Given the description of an element on the screen output the (x, y) to click on. 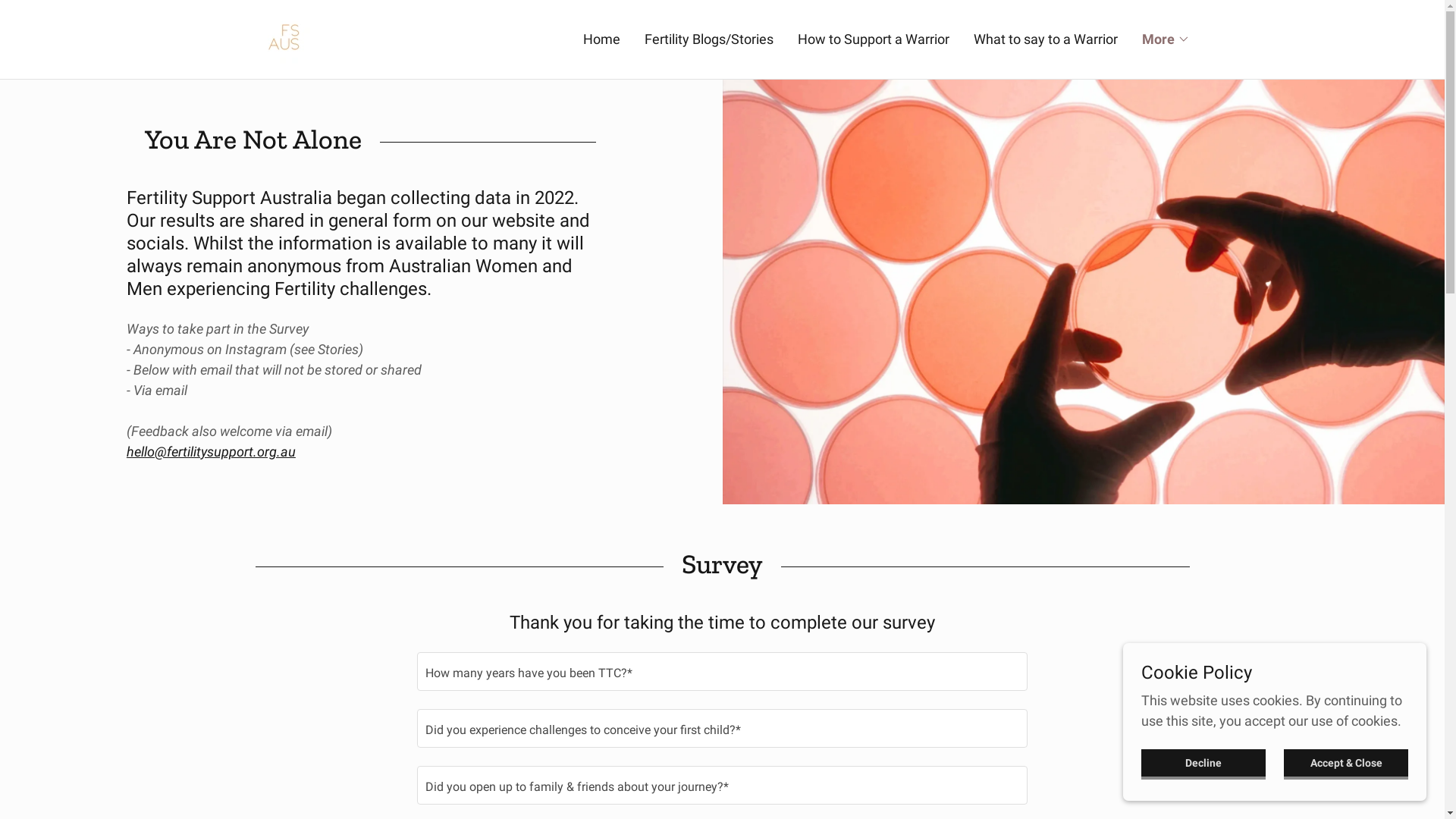
Accept & Close Element type: text (1345, 764)
Fertility Blogs/Stories Element type: text (709, 39)
Fertility Support Australia   Element type: hover (284, 38)
Home Element type: text (600, 39)
Decline Element type: text (1203, 764)
What to say to a Warrior Element type: text (1045, 39)
More Element type: text (1165, 39)
hello@fertilitysupport.org.au Element type: text (210, 451)
How to Support a Warrior Element type: text (873, 39)
